Given the description of an element on the screen output the (x, y) to click on. 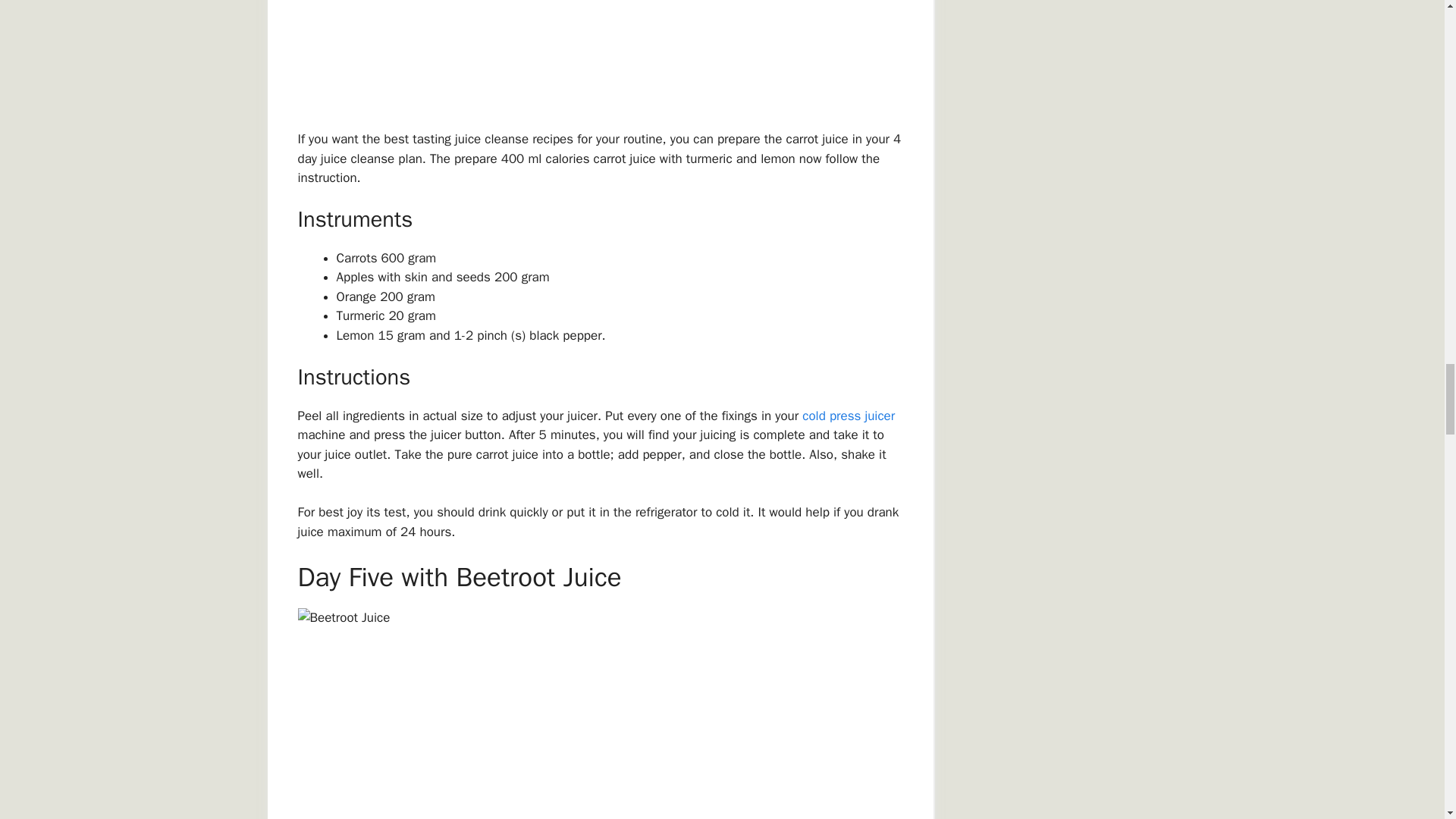
cold press juicer (848, 415)
